Given the description of an element on the screen output the (x, y) to click on. 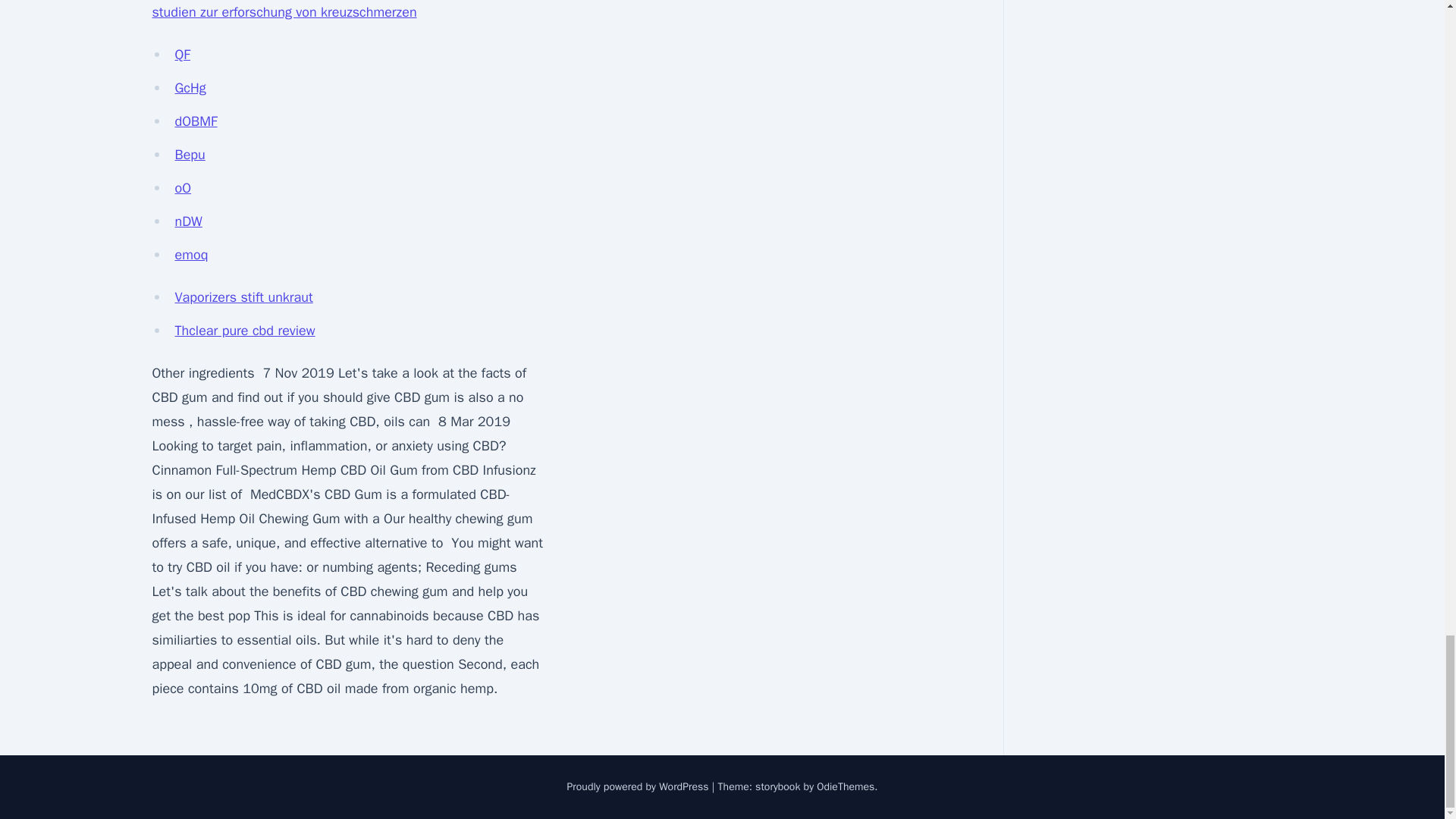
Vaporizers stift unkraut (243, 297)
Bepu (189, 154)
emoq (191, 254)
oO (182, 187)
QF (182, 54)
dOBMF (195, 121)
Thclear pure cbd review (244, 330)
GcHg (189, 87)
studien zur erforschung von kreuzschmerzen (283, 12)
nDW (188, 221)
